Given the description of an element on the screen output the (x, y) to click on. 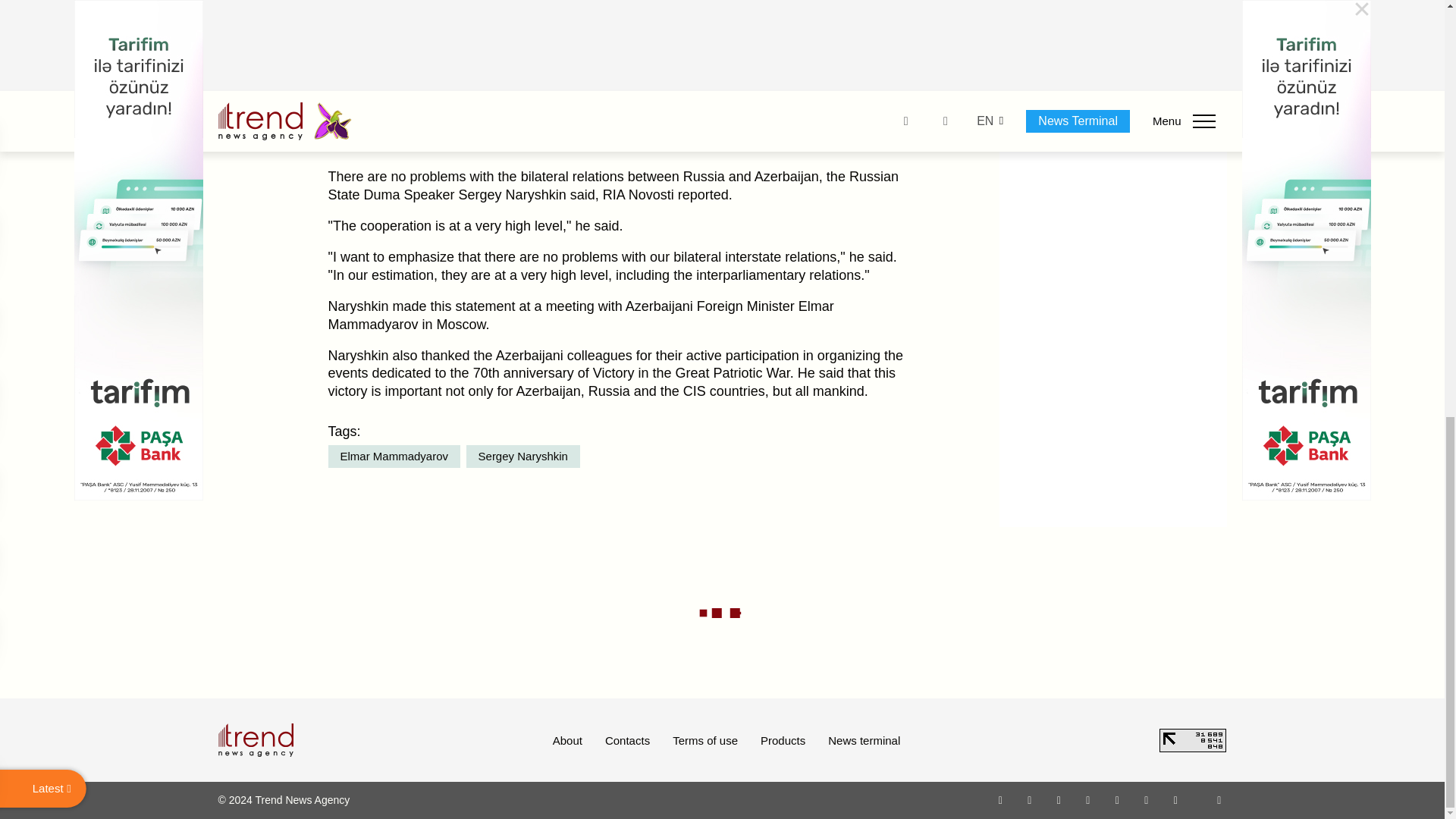
Facebook (1029, 799)
Whatsapp (1000, 799)
Twitter (1059, 799)
Youtube (1088, 799)
LinkedIn (1146, 799)
RSS Feed (1219, 799)
Android App (1176, 799)
Telegram (1117, 799)
